Given the description of an element on the screen output the (x, y) to click on. 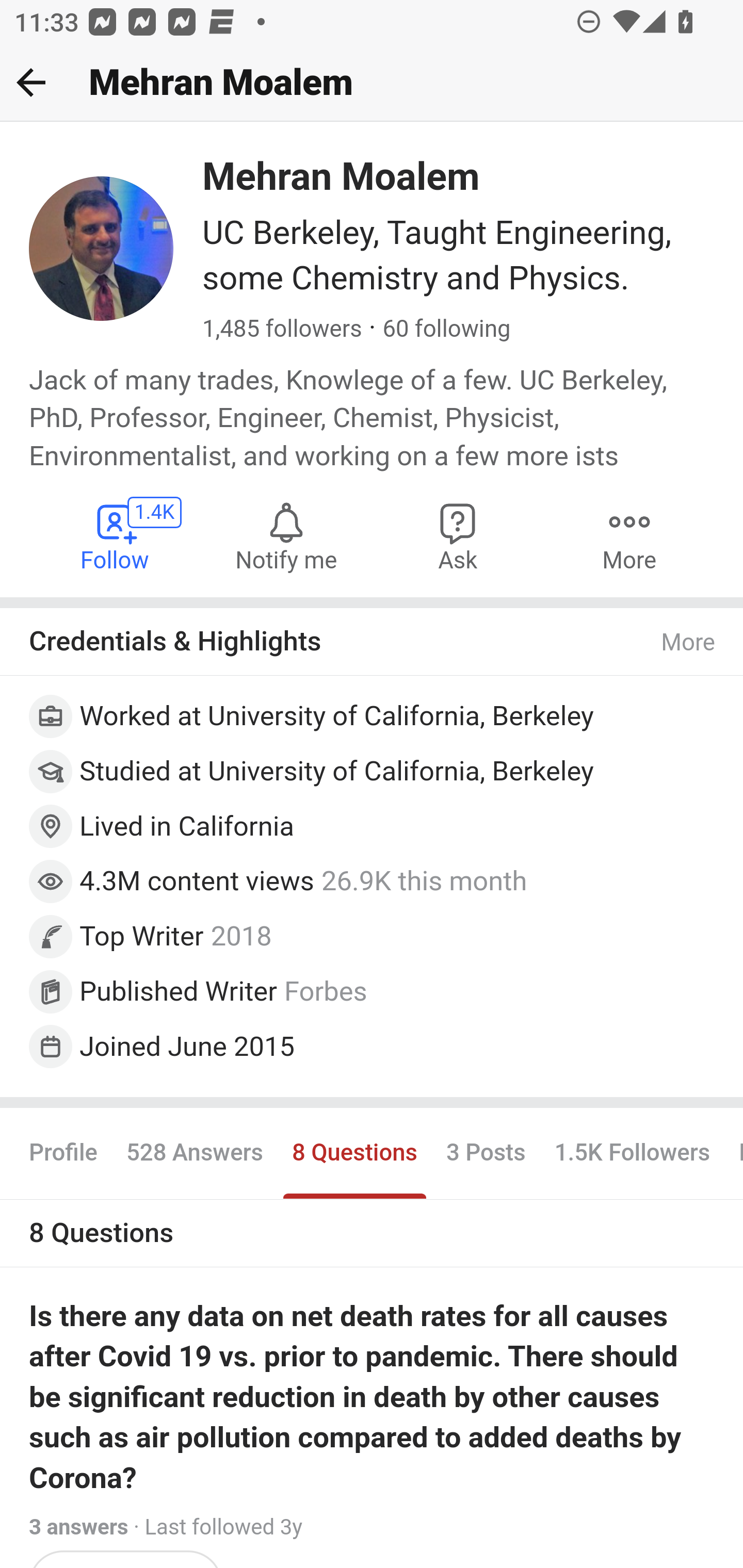
Back (30, 82)
1,485 followers (282, 329)
60 following (445, 329)
Follow Mehran Moalem 1.4K Follow (115, 536)
Notify me (285, 536)
Ask (458, 536)
More (628, 536)
More (688, 642)
Published Writer (178, 990)
Profile (63, 1153)
528 Answers (193, 1153)
8 Questions (354, 1153)
3 Posts (485, 1153)
1.5K Followers (631, 1153)
3 answers 3  answers (79, 1527)
